Given the description of an element on the screen output the (x, y) to click on. 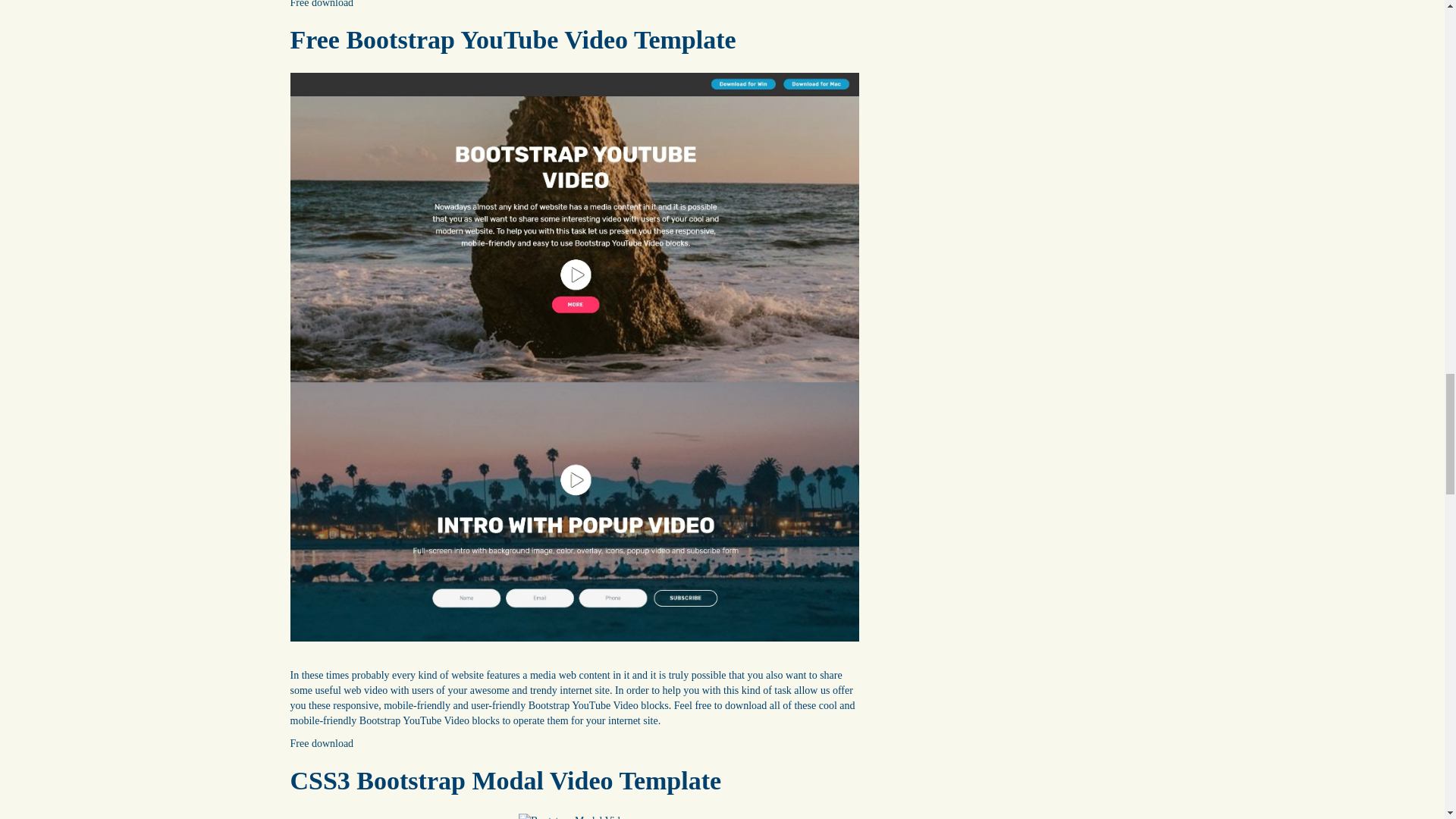
Free download (321, 743)
Free download (321, 4)
